Given the description of an element on the screen output the (x, y) to click on. 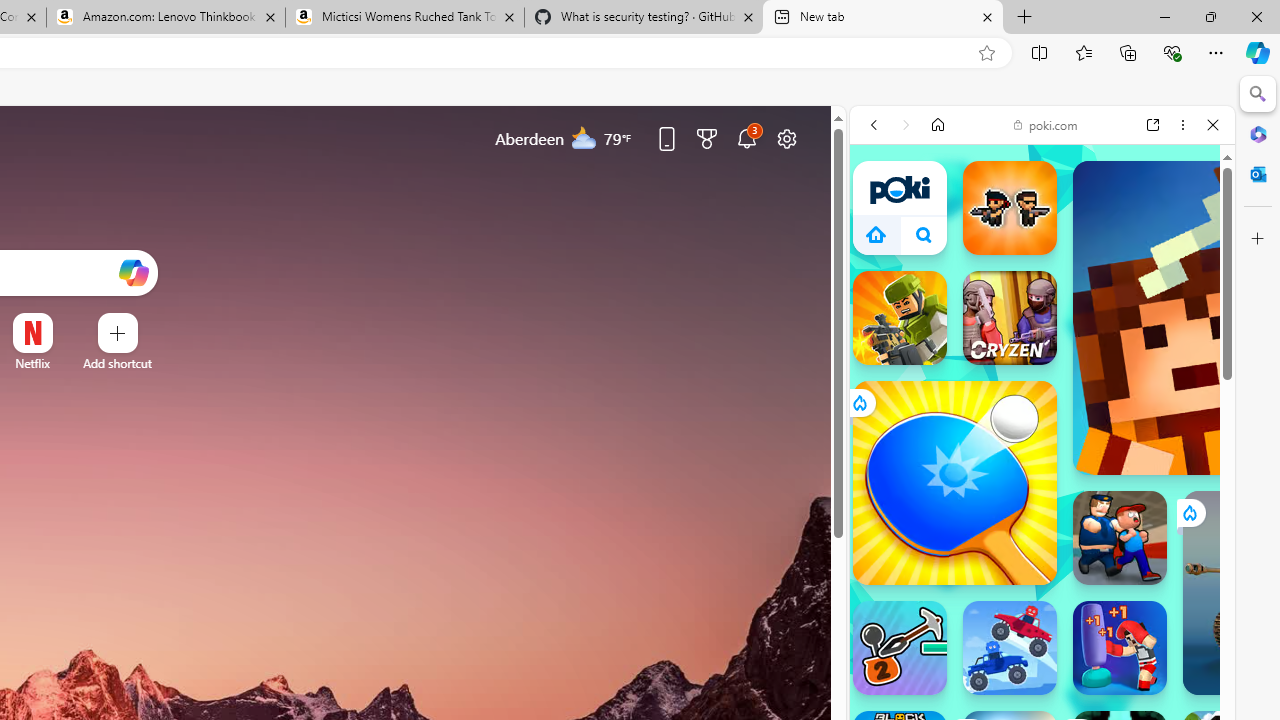
Mostly cloudy (584, 137)
Poki (1034, 322)
Car Games (1042, 504)
Escape From School (1119, 537)
Sports Games (1042, 700)
Io Games (1042, 651)
Battle Wheels (1009, 647)
Battle Wheels Battle Wheels (1009, 647)
Class: B_5ykBA46kDOxiz_R9wm (923, 234)
Kour.io (899, 317)
